Given the description of an element on the screen output the (x, y) to click on. 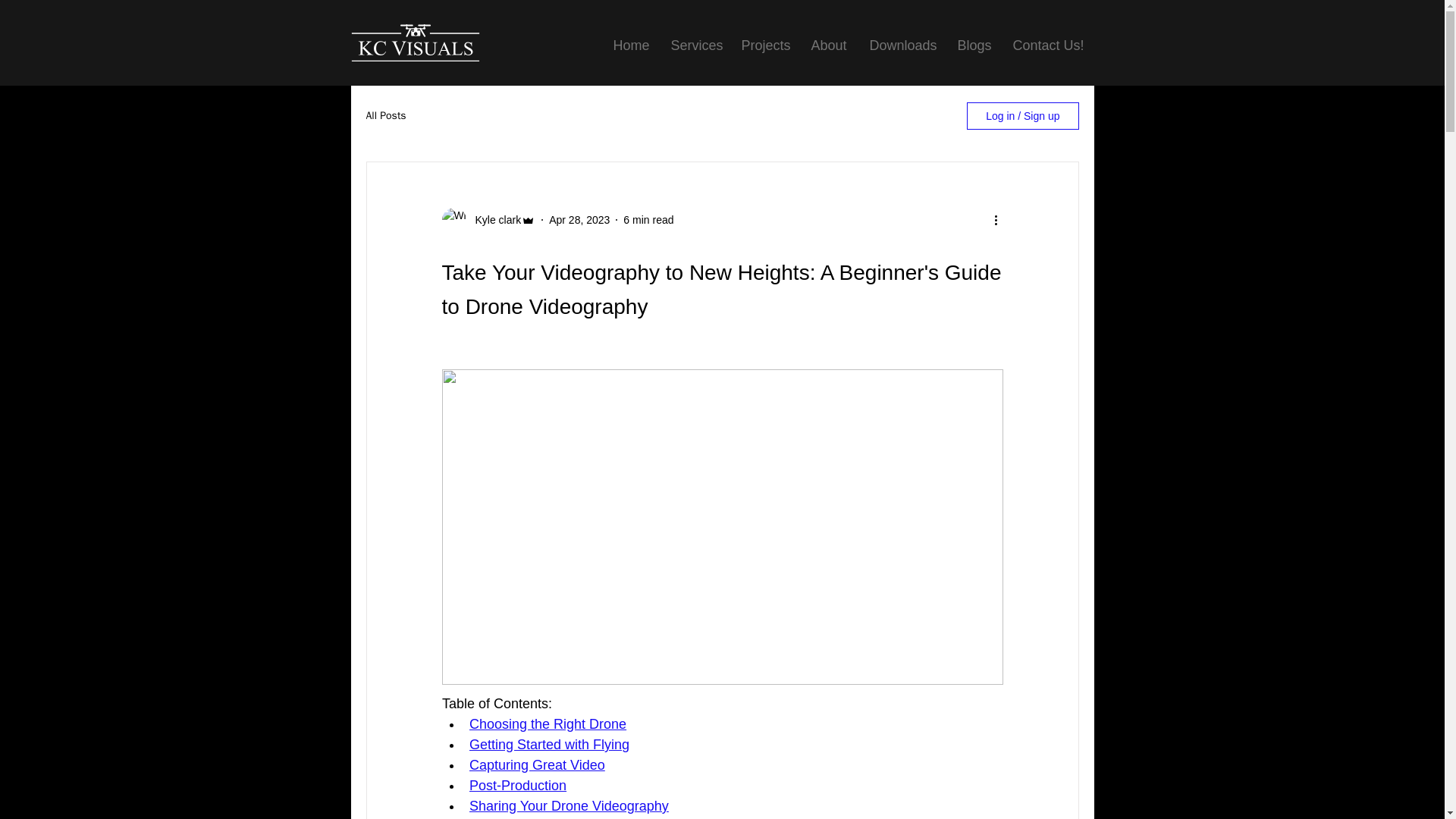
Apr 28, 2023 (579, 219)
Blogs (973, 45)
Contact Us! (1047, 45)
About (828, 45)
Post-Production (517, 785)
All Posts (385, 115)
Getting Started with Flying (548, 744)
Projects (764, 45)
Services (694, 45)
Downloads (902, 45)
Home (630, 45)
Kyle clark (493, 220)
6 min read (647, 219)
Choosing the Right Drone (547, 724)
Capturing Great Video (536, 765)
